Given the description of an element on the screen output the (x, y) to click on. 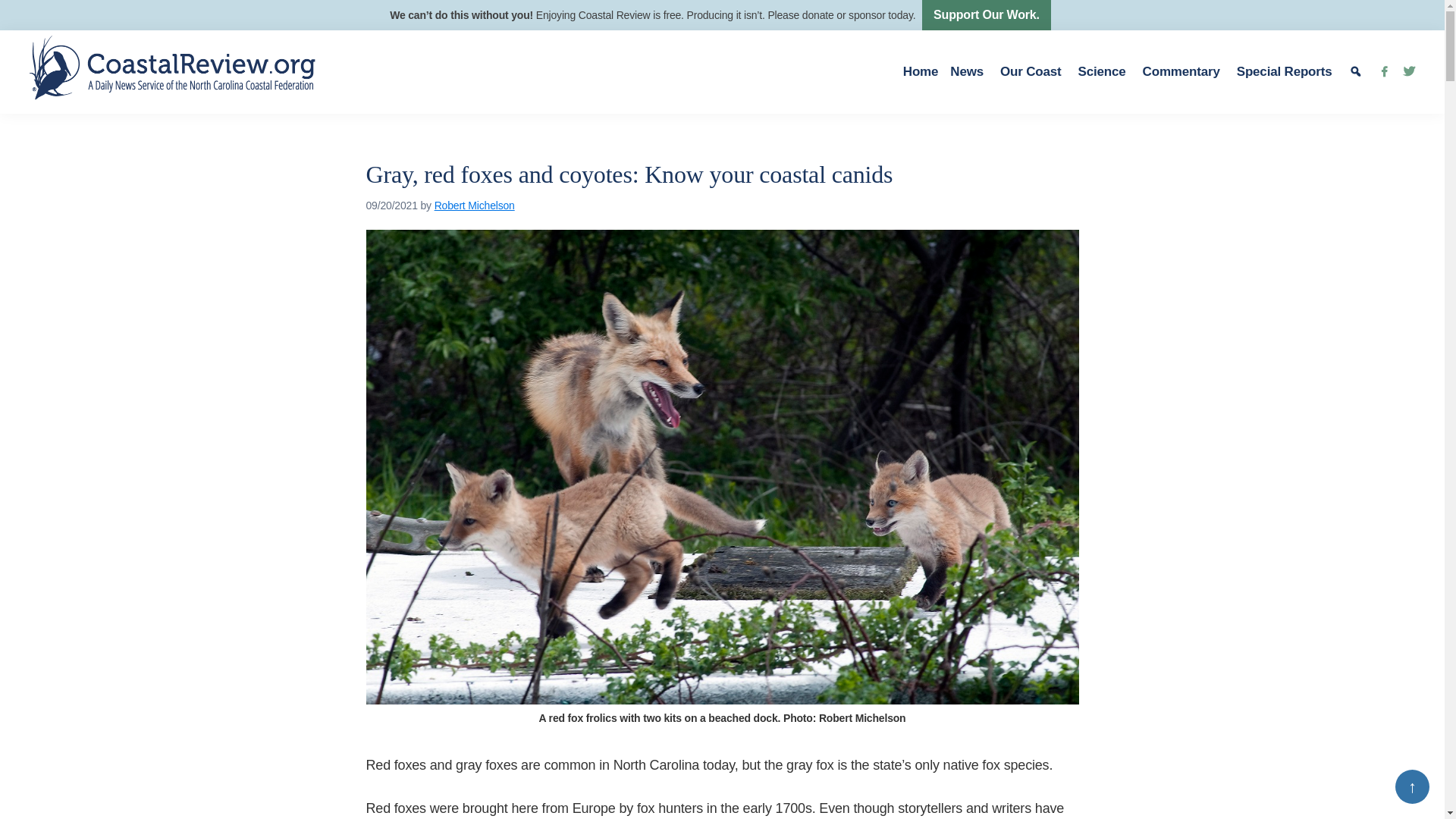
Our Coast (1032, 71)
Support Our Work. (986, 15)
Support Our Work (986, 15)
